Given the description of an element on the screen output the (x, y) to click on. 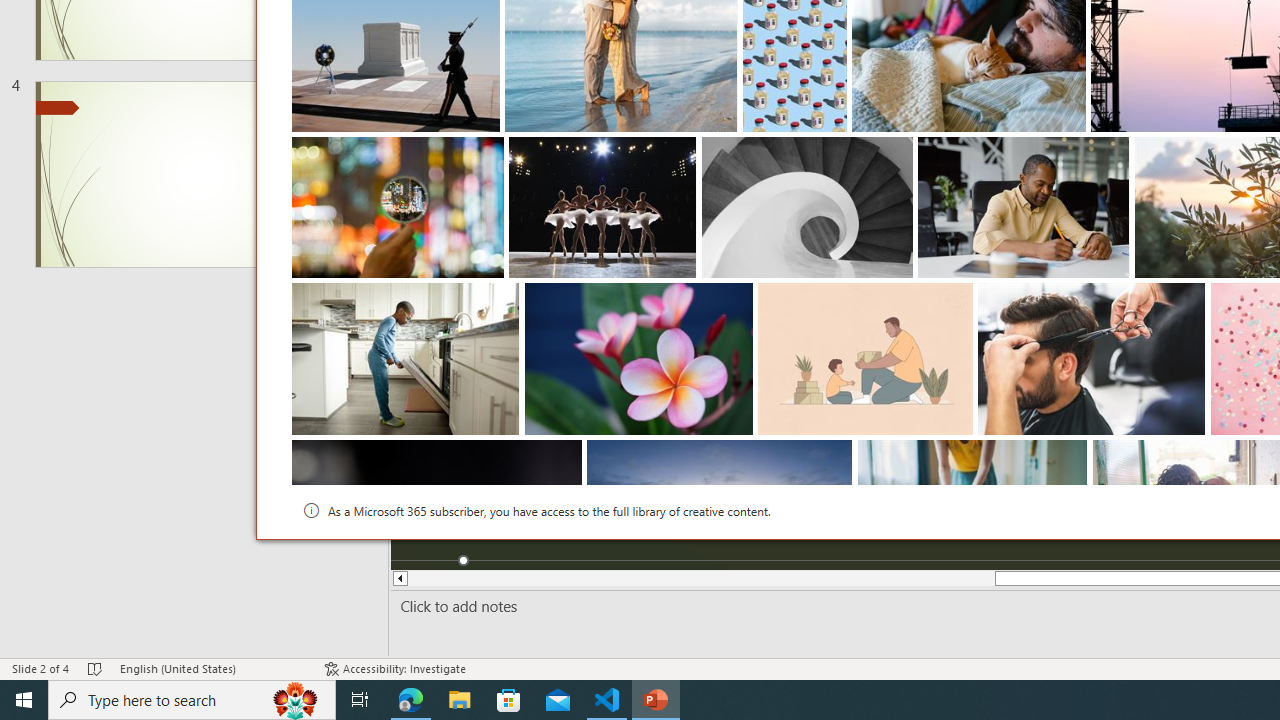
PowerPoint - 1 running window (656, 699)
Task View (359, 699)
Start (24, 699)
Accessibility Checker Accessibility: Investigate (395, 668)
Spell Check No Errors (95, 668)
Microsoft Edge - 1 running window (411, 699)
